Given the description of an element on the screen output the (x, y) to click on. 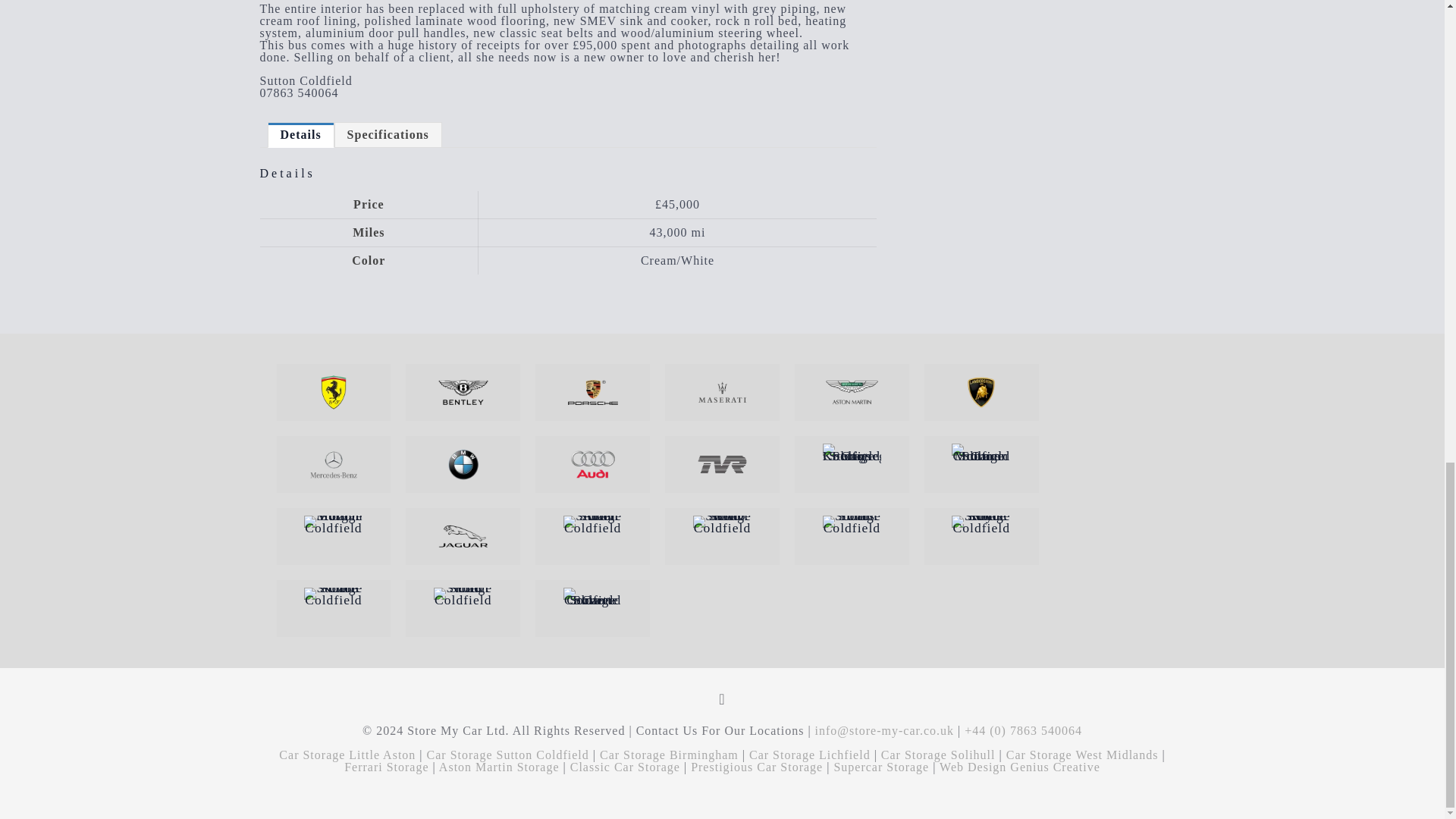
Car Storage Solihull (937, 754)
Aston Martin Storage (499, 766)
Web Design Genius Creative (1019, 766)
Car Storage Sutton Coldfield (507, 754)
Car Storage West Midlands (1082, 754)
Prestigious Car Storage (756, 766)
Ferrari Storage (385, 766)
Supercar Storage (880, 766)
Classic Car Storage (624, 766)
Car Storage Little Aston (346, 754)
Car Storage Lichfield (809, 754)
Specifications (388, 134)
Details (301, 134)
Car Storage Birmingham (668, 754)
